Given the description of an element on the screen output the (x, y) to click on. 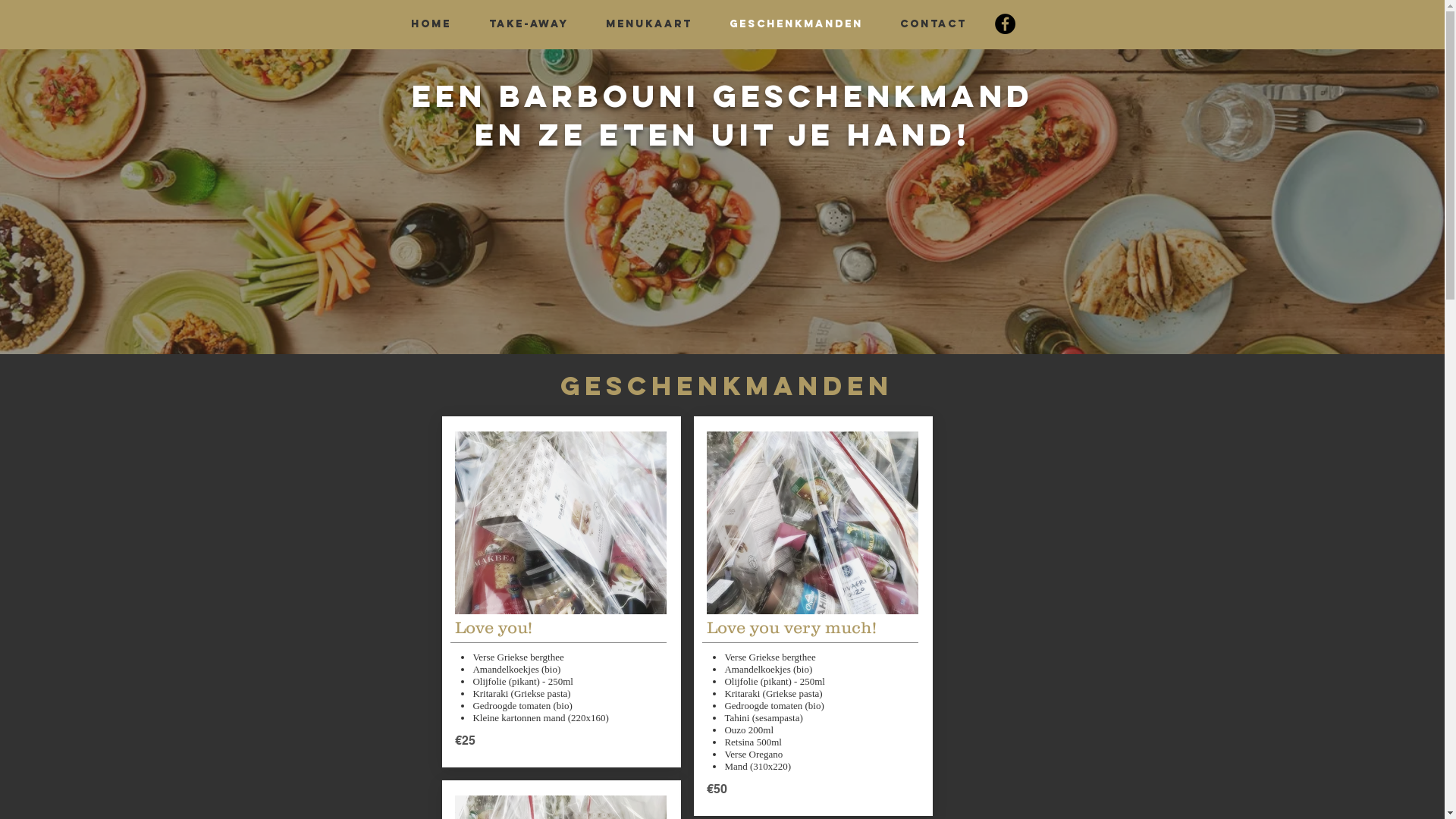
GESCHENKMANDEN Element type: text (796, 23)
TAKE-AWAY Element type: text (528, 23)
HOME Element type: text (430, 23)
CONTACT Element type: text (933, 23)
MENUKAART Element type: text (648, 23)
